Given the description of an element on the screen output the (x, y) to click on. 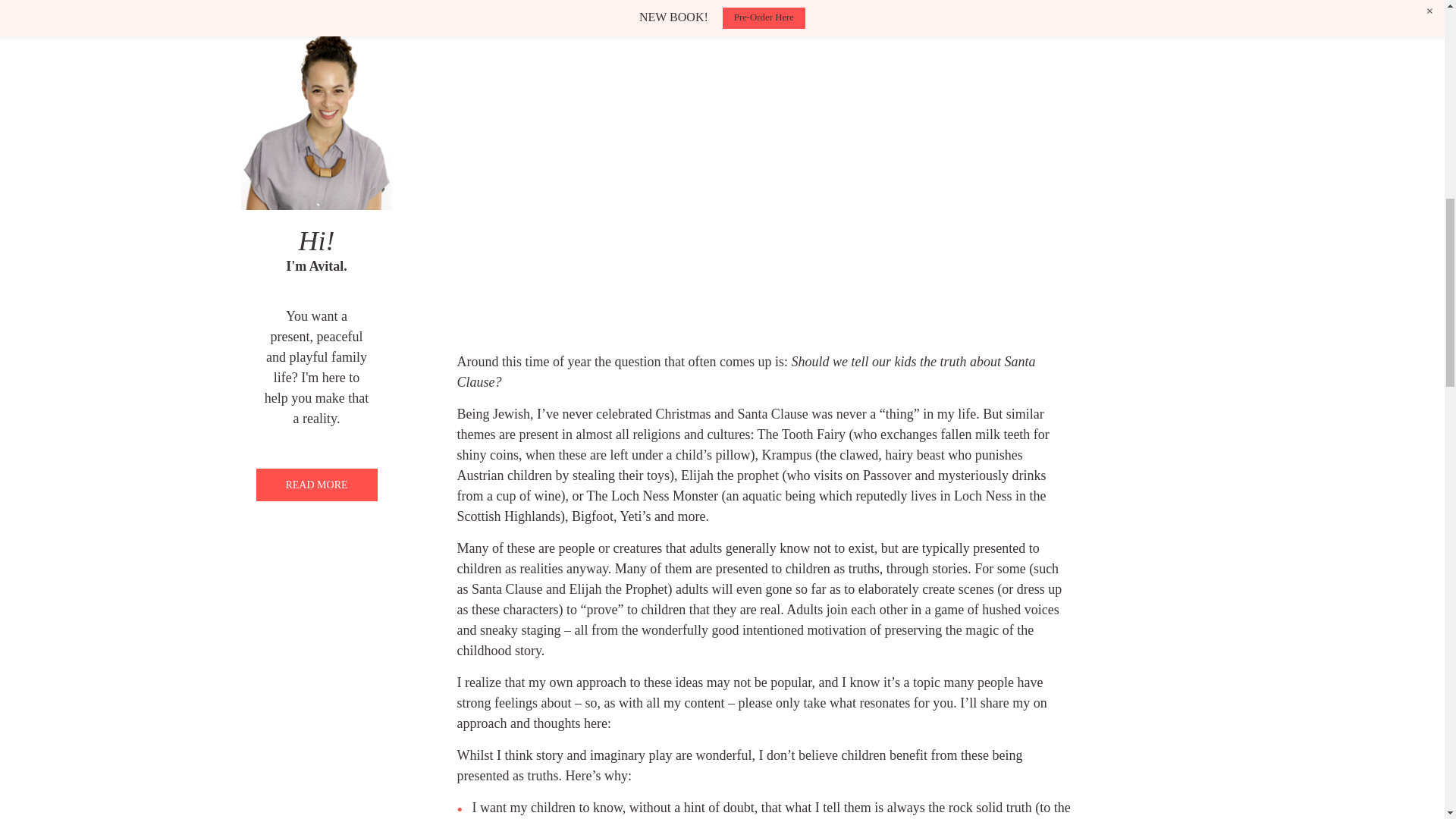
READ MORE (316, 484)
